Given the description of an element on the screen output the (x, y) to click on. 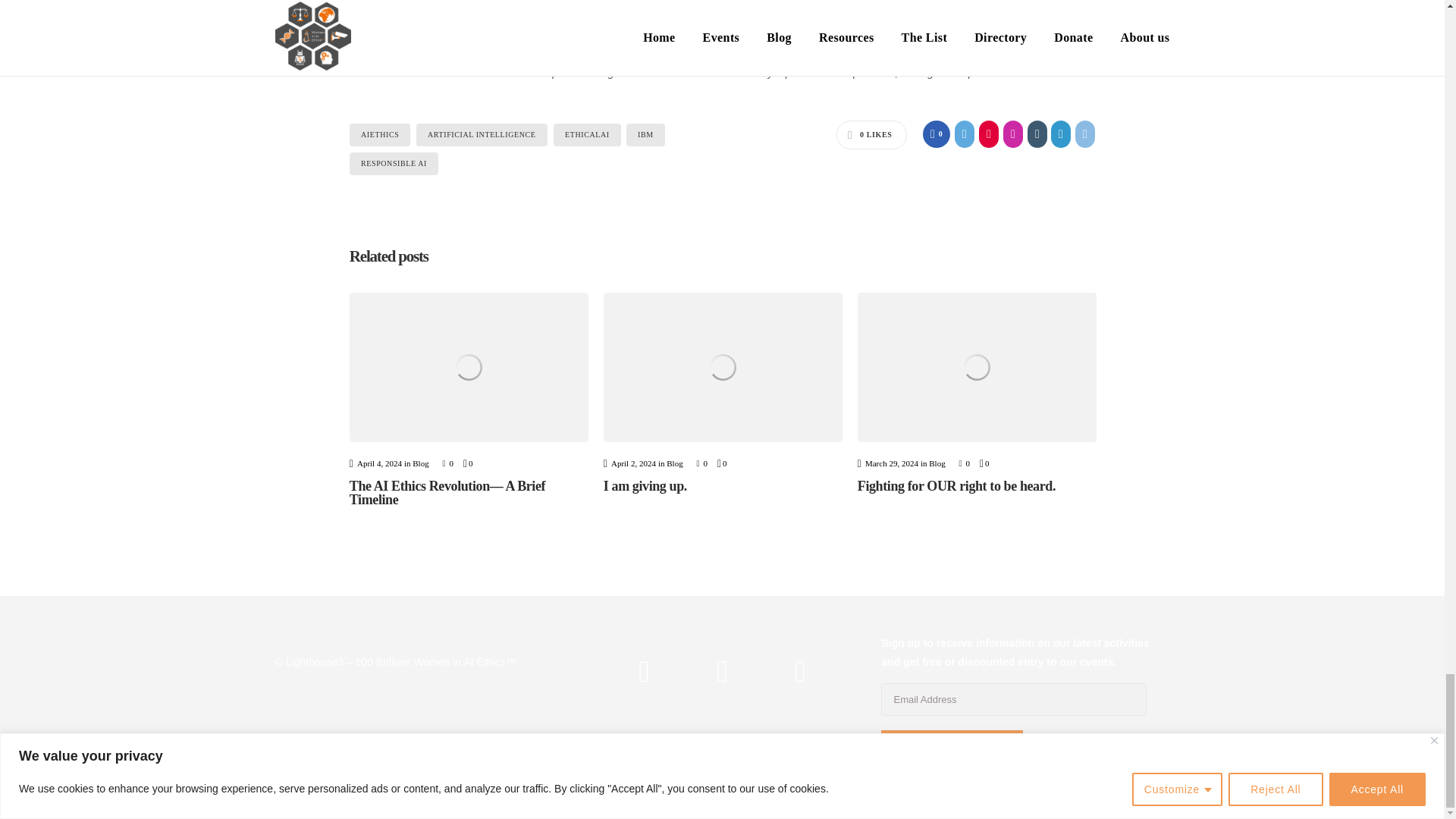
Aiethics (379, 134)
Subscribe (951, 749)
Ethicalai (587, 134)
Responsible Ai (393, 163)
Artificial Intelligence (481, 134)
IBM (645, 134)
